Given the description of an element on the screen output the (x, y) to click on. 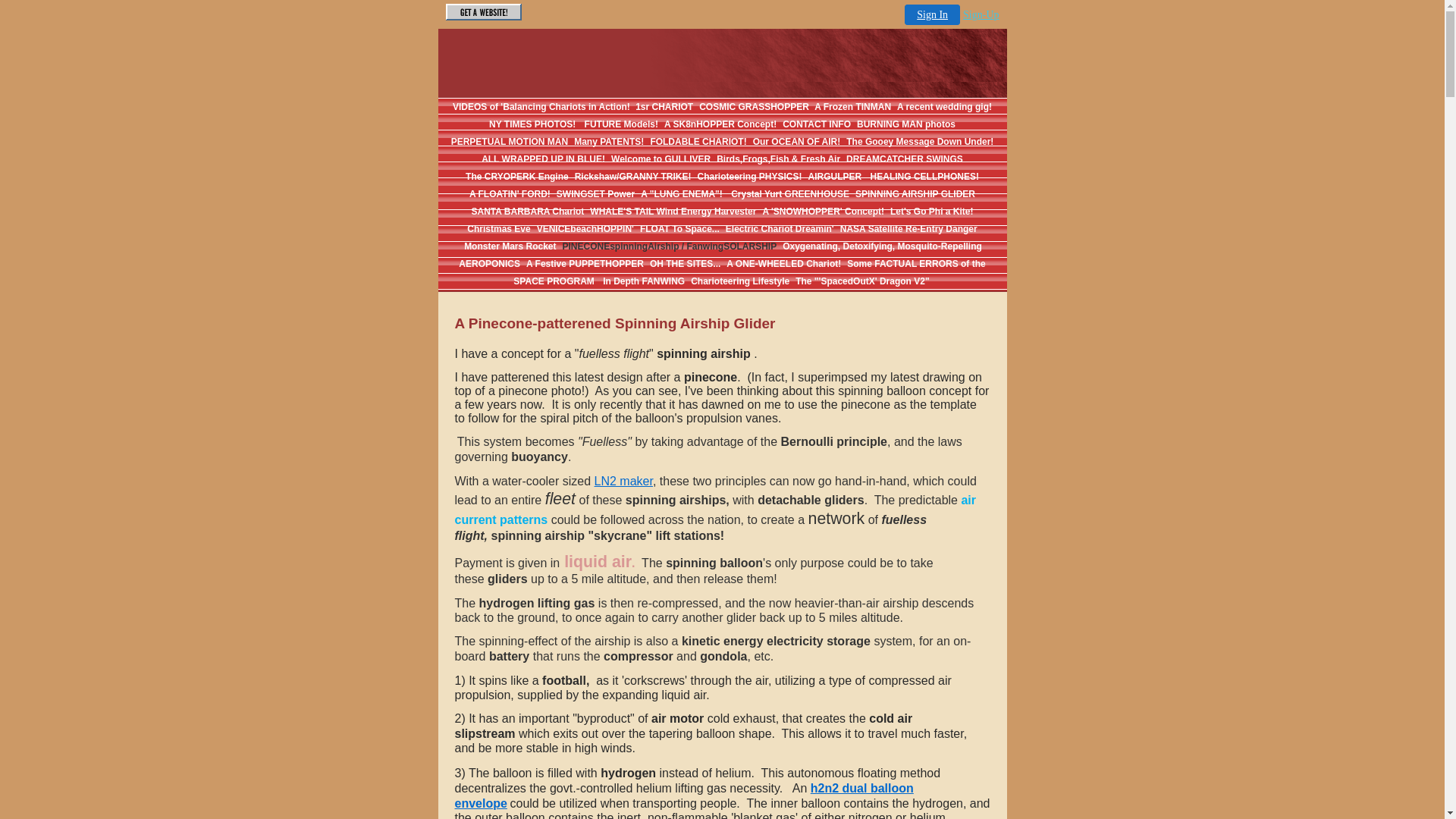
FOLDABLE CHARIOT! Element type: text (697, 141)
HEALING CELLPHONES! Element type: text (924, 176)
OH THE SITES... Element type: text (684, 263)
Welcome to GULLIVER Element type: text (660, 158)
Charioteering PHYSICS! Element type: text (749, 176)
Sign In Element type: text (932, 14)
A 'SNOWHOPPER' Concept! Element type: text (822, 211)
Some FACTUAL ERRORS of the SPACE PROGRAM Element type: text (749, 272)
The Gooey Message Down Under! Element type: text (919, 141)
Our OCEAN OF AIR! Element type: text (796, 141)
Monster Mars Rocket Element type: text (509, 246)
PERPETUAL MOTION MAN Element type: text (509, 141)
SANTA BARBARA Chariot Element type: text (527, 211)
BURNING MAN photos Element type: text (906, 124)
DREAMCATCHER SWINGS Element type: text (904, 158)
Oxygenating, Detoxifying, Mosquito-Repelling AEROPONICS Element type: text (720, 255)
FLOAT To Space... Element type: text (679, 228)
Birds,Frogs,Fish & Fresh Air Element type: text (778, 158)
ALL WRAPPED UP IN BLUE! Element type: text (543, 158)
PINECONEspinningAirship / FanwingSOLARSHIP Element type: text (669, 246)
A SK8nHOPPER Concept! Element type: text (720, 124)
VENICEbeachHOPPIN' Element type: text (585, 228)
 FUTURE Models! Element type: text (619, 124)
Sign-Up Element type: text (980, 14)
WHALE'S TAIL Wind Energy Harvester Element type: text (672, 211)
 In Depth FANWING Element type: text (642, 281)
NY TIMES PHOTOS! Element type: text (532, 124)
1sr CHARIOT Element type: text (663, 106)
SPINNING AIRSHIP GLIDER Element type: text (914, 193)
A recent wedding gig! Element type: text (944, 106)
NASA Satellite Re-Entry Danger Element type: text (908, 228)
Charioteering Lifestyle Element type: text (739, 281)
A FLOATIN' FORD! Element type: text (509, 193)
The CRYOPERK Engine Element type: text (517, 176)
LN2 maker Element type: text (623, 480)
SWINGSET Power Element type: text (595, 193)
Many PATENTS! Element type: text (608, 141)
CONTACT INFO Element type: text (816, 124)
Let's Go Phi a Kite! Element type: text (931, 211)
Christmas Eve Element type: text (498, 228)
COSMIC GRASSHOPPER Element type: text (754, 106)
h2n2 dual balloon envelope Element type: text (684, 795)
Electric Chariot Dreamin' Element type: text (779, 228)
A ONE-WHEELED Chariot! Element type: text (783, 263)
VIDEOS of 'Balancing Chariots in Action! Element type: text (542, 106)
A Frozen TINMAN Element type: text (852, 106)
Rickshaw/GRANNY TRIKE! Element type: text (633, 176)
AIRGULPER  Element type: text (836, 176)
A "LUNG ENEMA"! Element type: text (681, 193)
 Crystal Yurt GREENHOUSE Element type: text (788, 193)
The "'SpacedOutX' Dragon V2" Element type: text (861, 281)
A Festive PUPPETHOPPER Element type: text (584, 263)
